Given the description of an element on the screen output the (x, y) to click on. 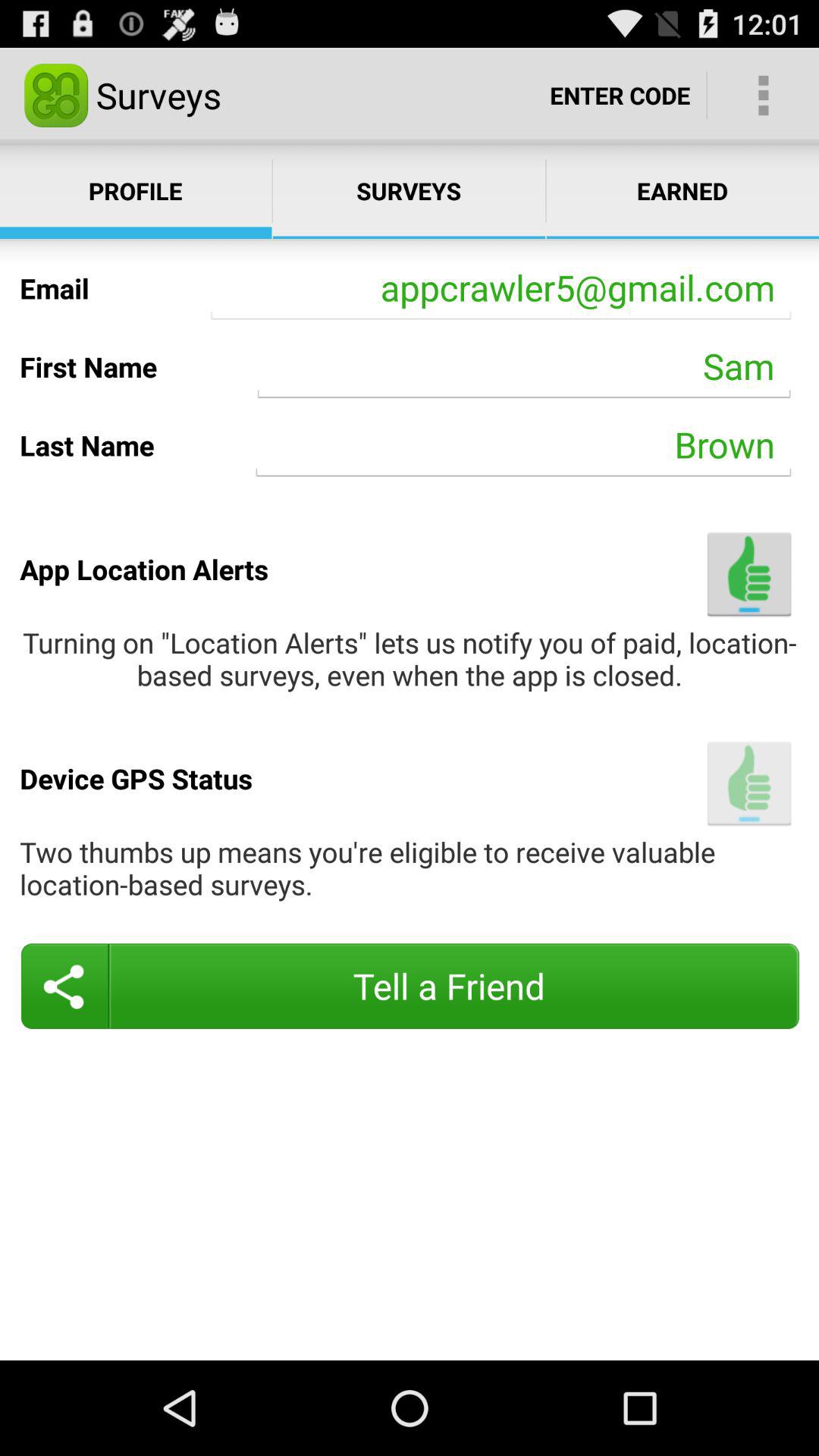
launch the icon next to the email icon (501, 288)
